Given the description of an element on the screen output the (x, y) to click on. 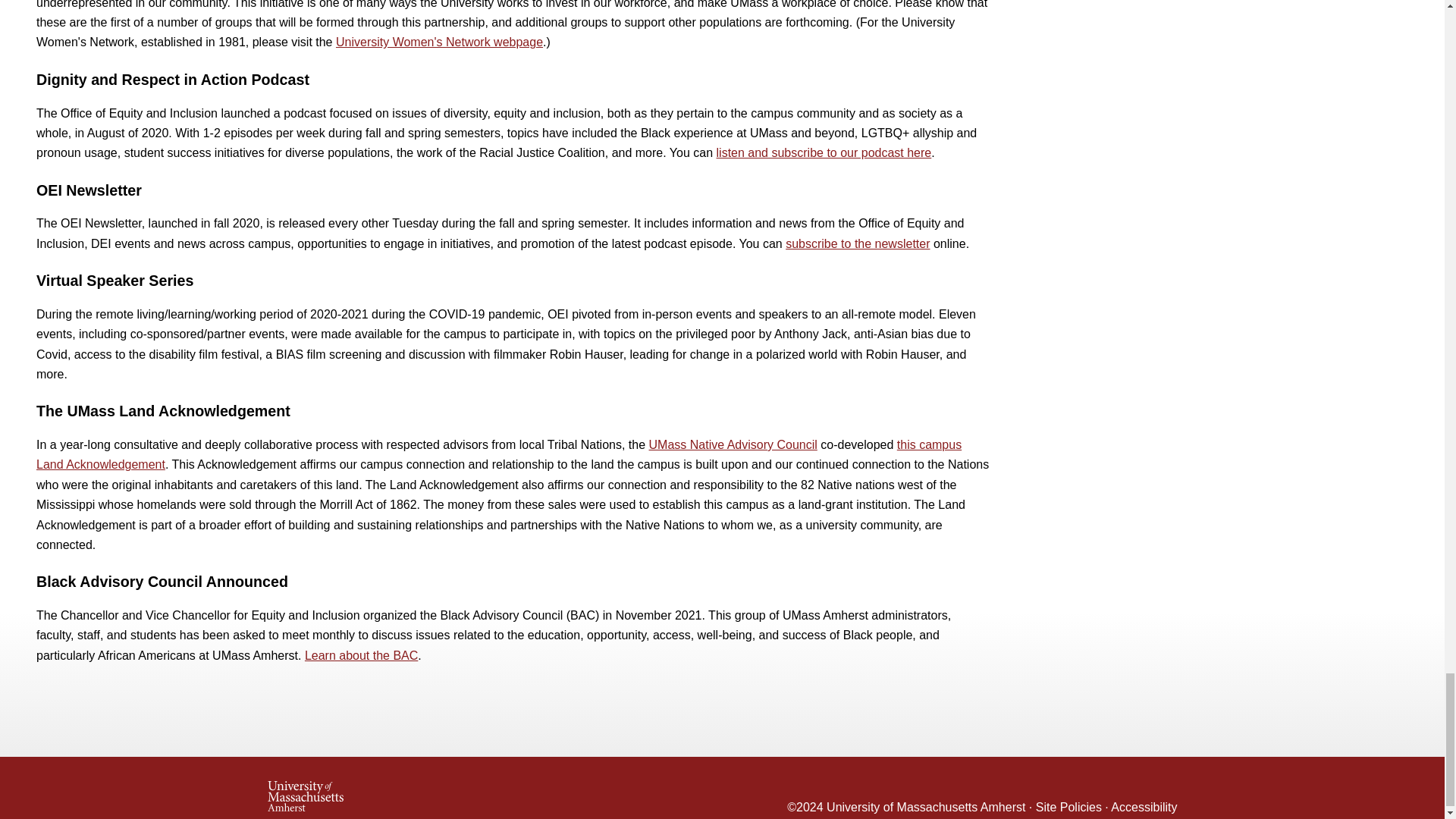
University of Massachusetts Amherst (494, 791)
